Given the description of an element on the screen output the (x, y) to click on. 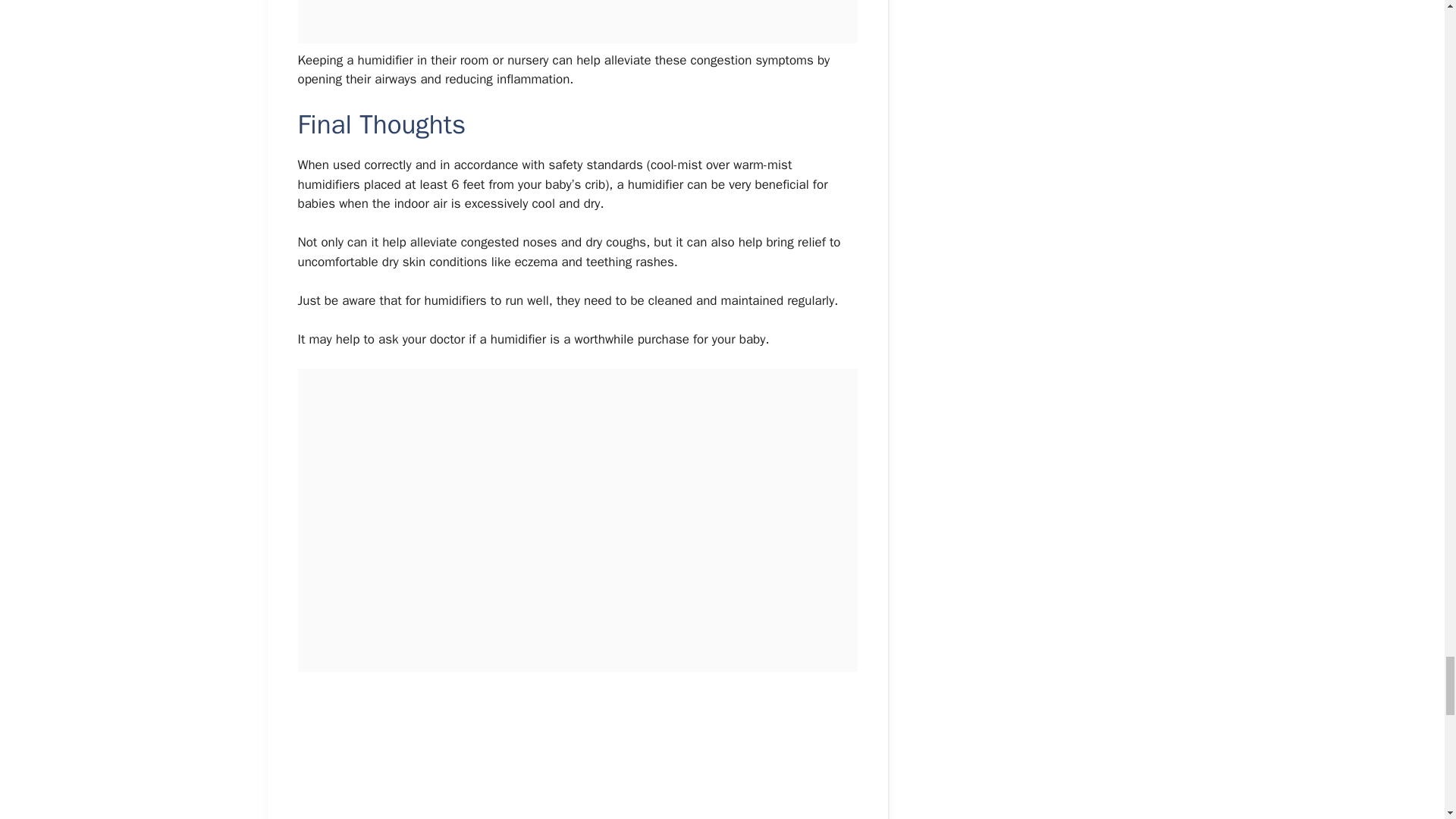
How long does my baby need a humidifier in his room? (577, 749)
